Given the description of an element on the screen output the (x, y) to click on. 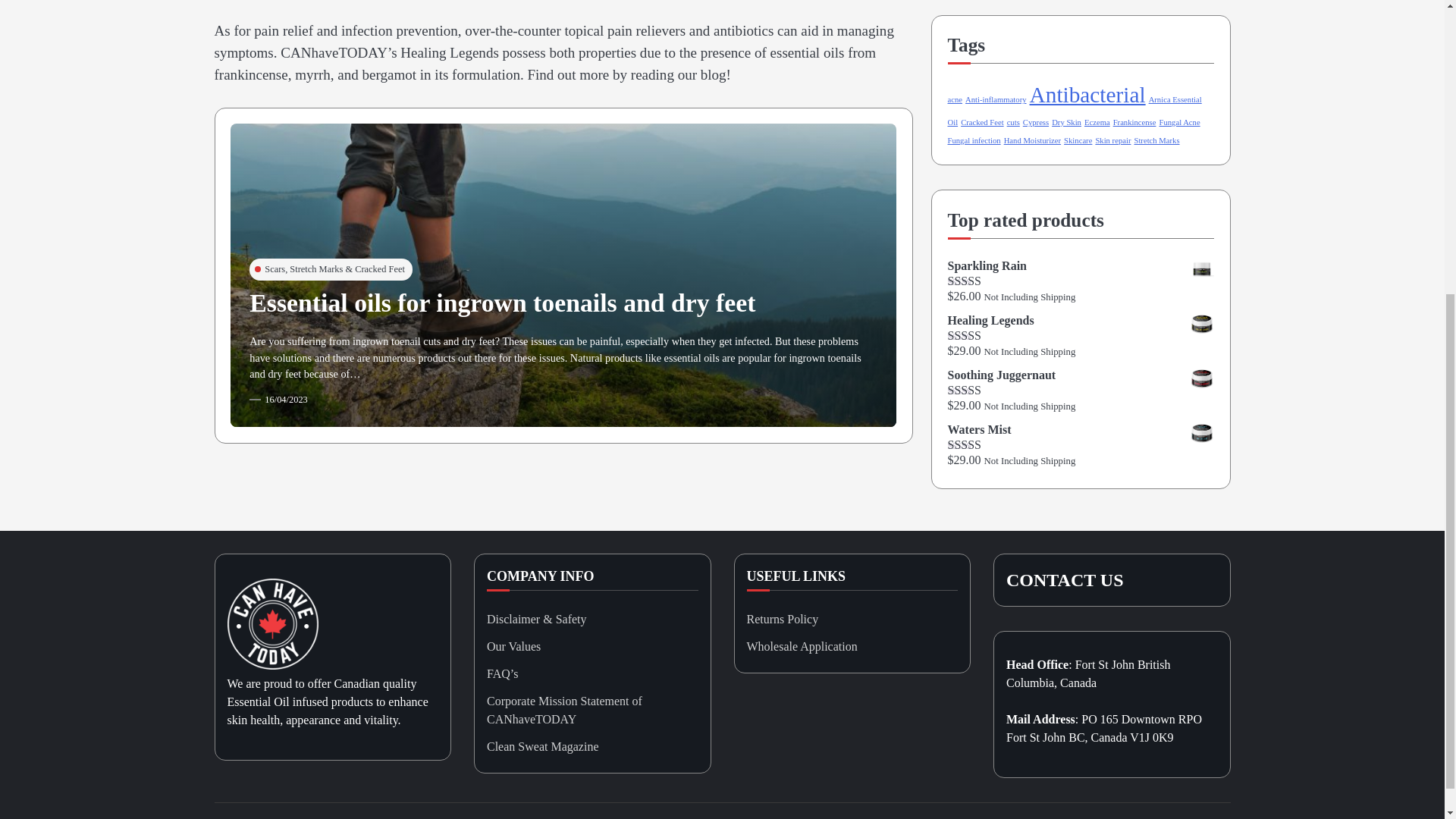
Arnica Essential Oil (1074, 110)
acne (954, 99)
Cypress (1035, 121)
Fungal infection (974, 140)
Anti-inflammatory (995, 99)
Frankincense (1134, 121)
Stretch Marks (1156, 140)
Skincare (1078, 140)
Dry Skin (1066, 121)
Antibacterial (1087, 94)
cuts (1013, 121)
Fungal Acne (1178, 121)
Sparkling Rain (1080, 266)
Essential oils for ingrown toenails and dry feet (501, 302)
Cracked Feet (982, 121)
